Given the description of an element on the screen output the (x, y) to click on. 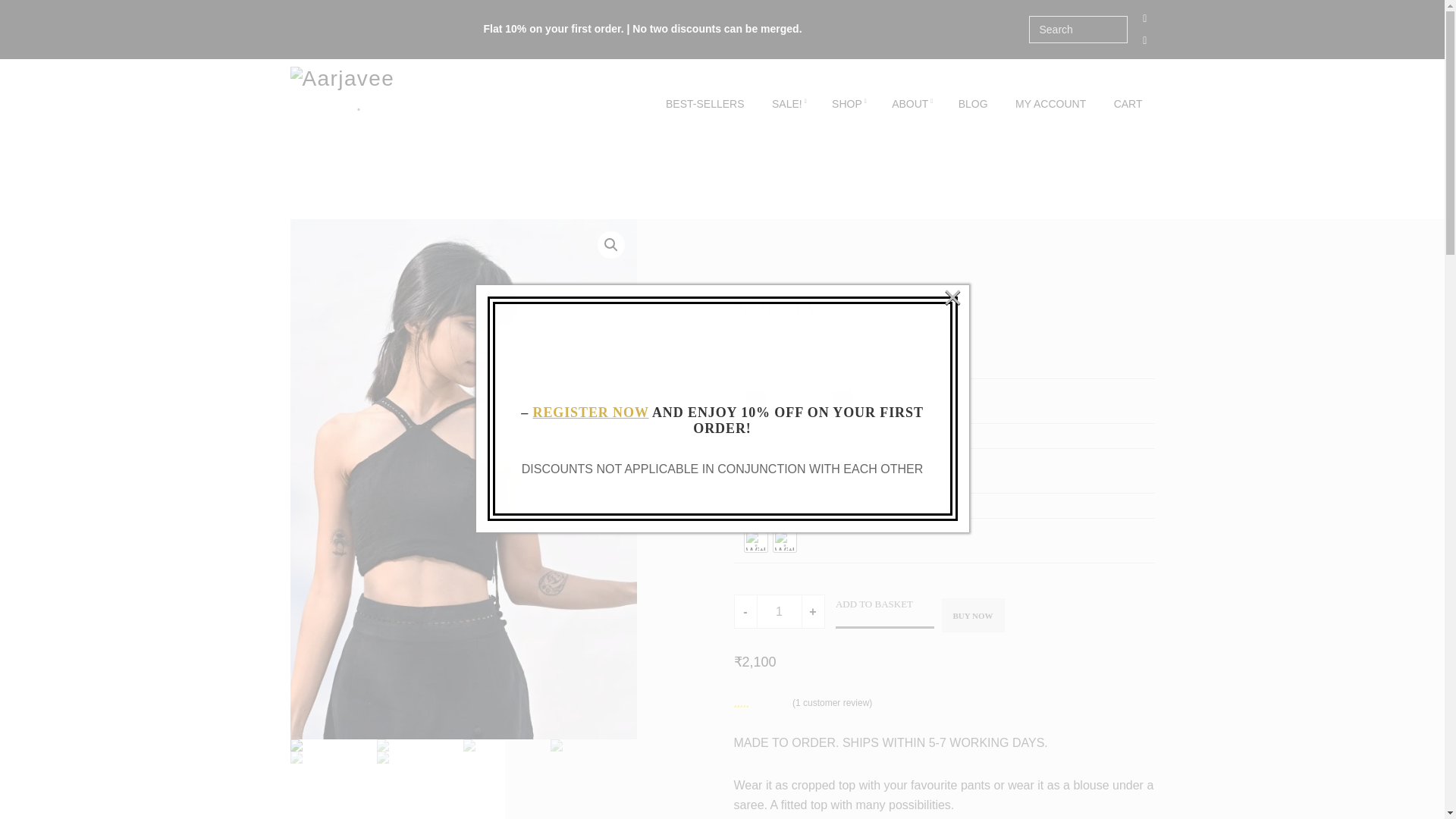
With Lining (755, 540)
Navy (842, 400)
Ivory (813, 400)
S (784, 470)
Without Lining (784, 540)
L (842, 470)
1 (779, 611)
XL (871, 470)
M (813, 470)
XS (755, 470)
Black (755, 400)
Dust (784, 400)
2XL (899, 470)
Custom (928, 470)
